Given the description of an element on the screen output the (x, y) to click on. 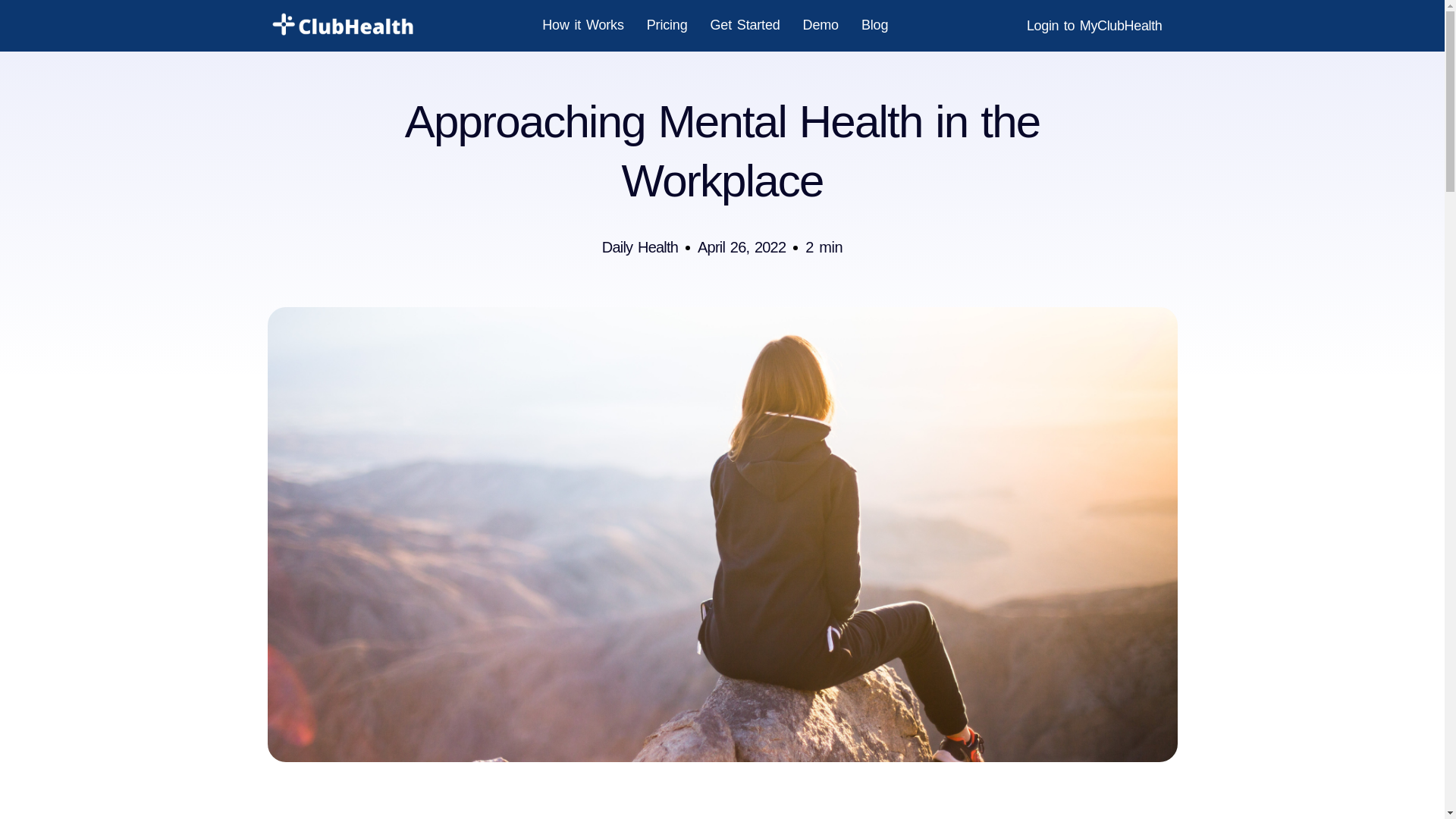
Pricing (666, 24)
Login to MyClubHealth (1093, 25)
How it Works (582, 24)
Demo (820, 24)
Blog (874, 24)
Get Started (745, 24)
